Given the description of an element on the screen output the (x, y) to click on. 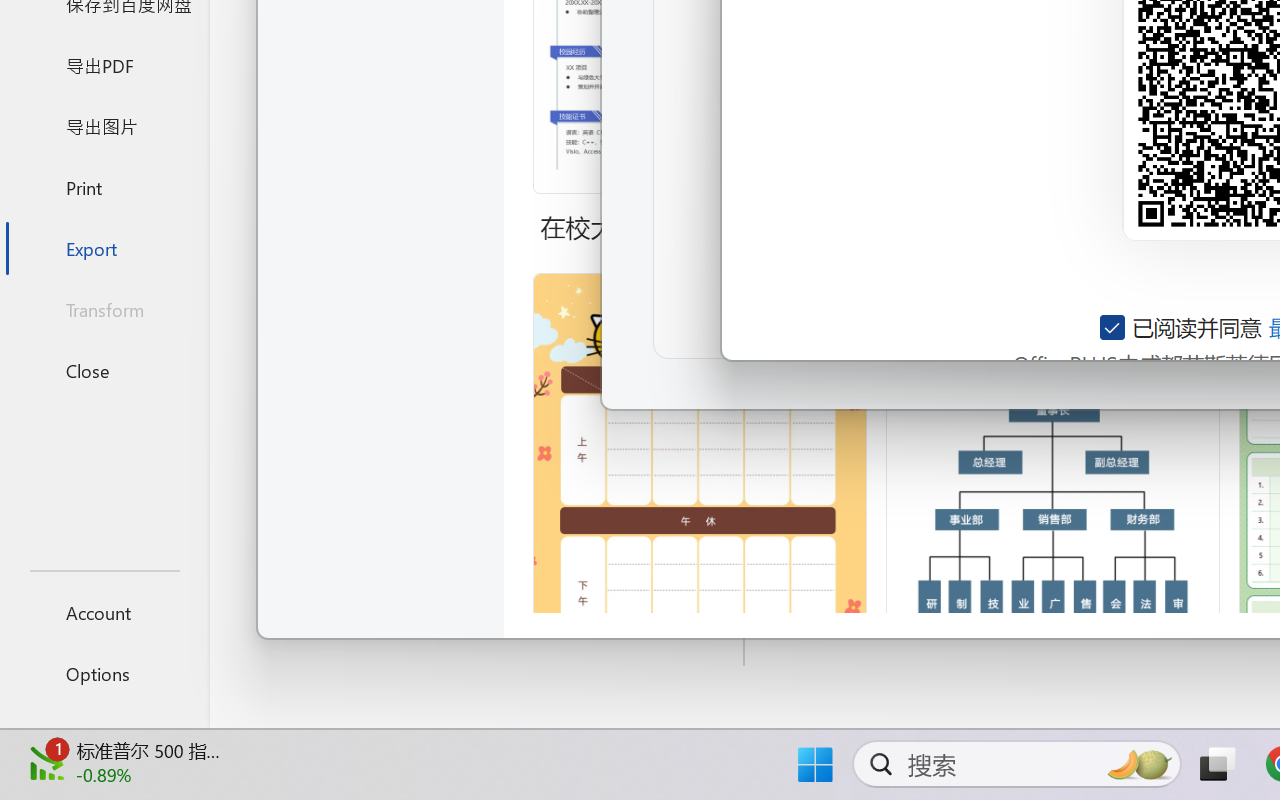
Print (104, 186)
Export (104, 248)
Transform (104, 309)
Account (104, 612)
AutomationID: checkbox-14 (1114, 327)
